Given the description of an element on the screen output the (x, y) to click on. 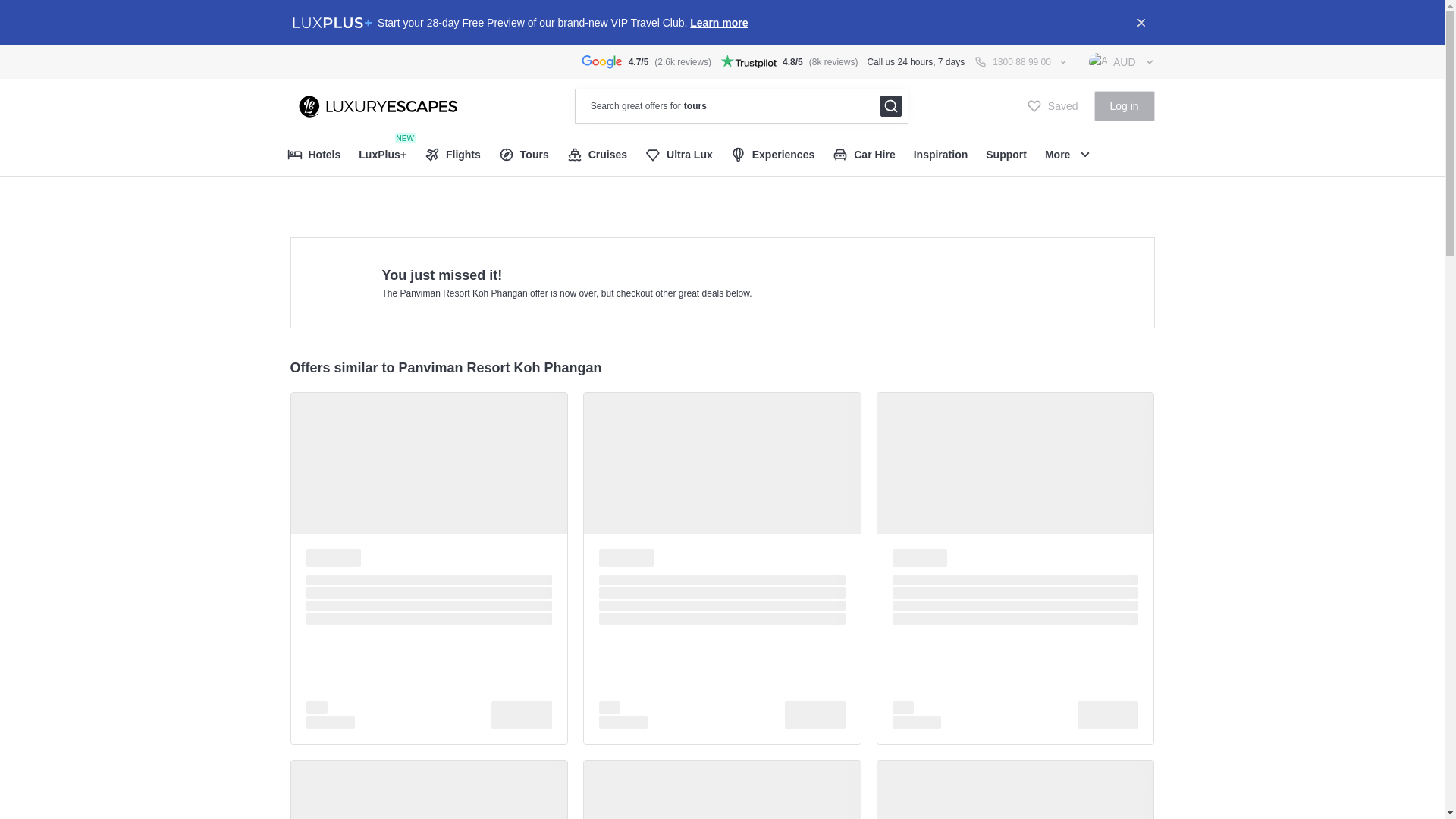
1300 88 99 00 (1021, 61)
Learn more (719, 22)
AUD (1122, 61)
